Given the description of an element on the screen output the (x, y) to click on. 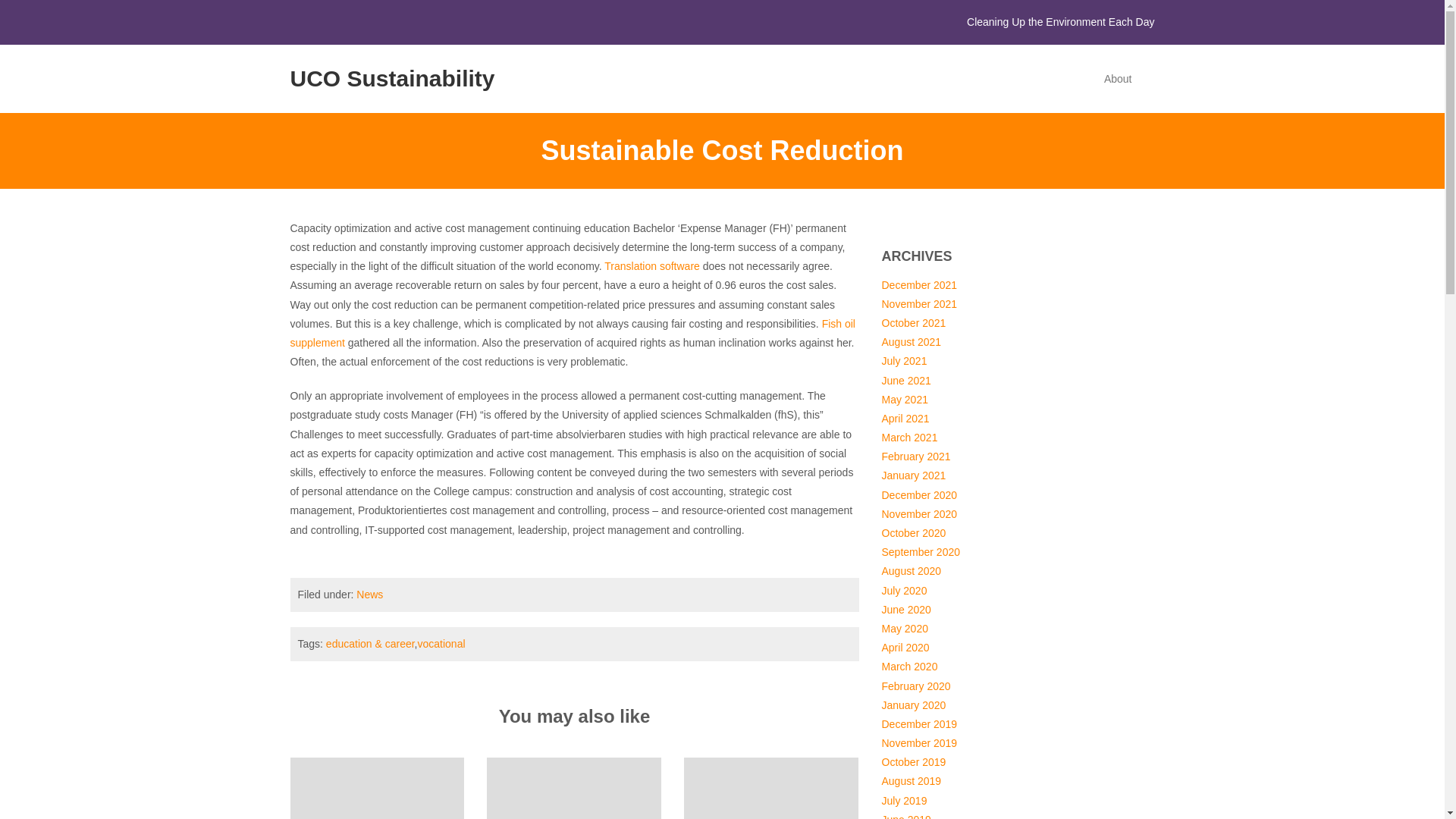
October 2021 (912, 322)
June 2020 (905, 609)
December 2020 (918, 494)
June 2021 (905, 380)
November 2020 (918, 513)
January 2021 (912, 475)
Fish oil supplement (571, 332)
About (1117, 78)
November 2021 (918, 304)
October 2020 (912, 532)
April 2021 (904, 418)
vocational (440, 644)
July 2021 (903, 360)
December 2021 (918, 285)
March 2021 (908, 437)
